Given the description of an element on the screen output the (x, y) to click on. 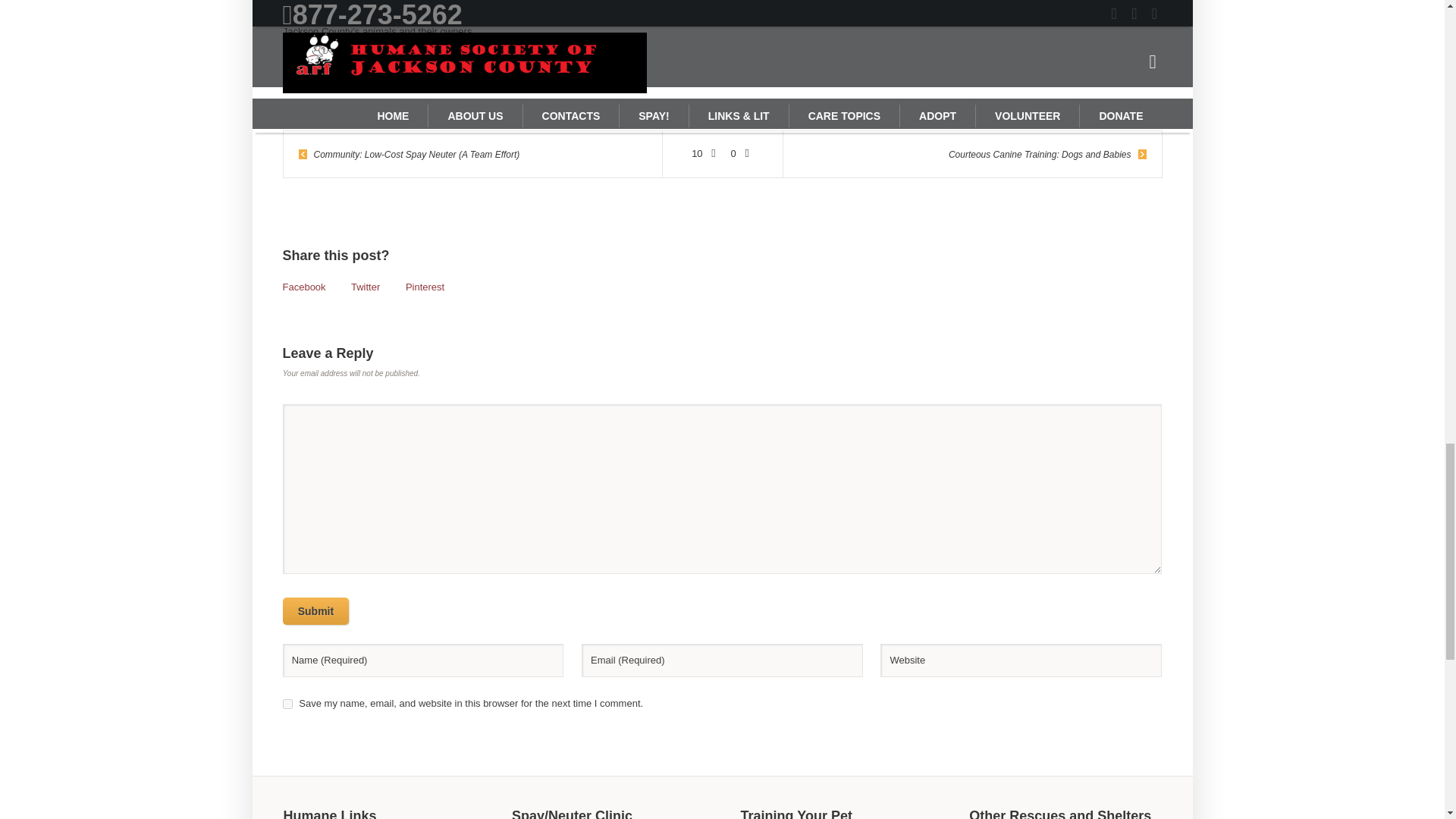
0 (741, 153)
Comment on Community: An Informal ARF History (741, 153)
Courteous Canine Training: Dogs and Babies (1048, 154)
Submit (315, 610)
yes (287, 704)
10 (705, 153)
Pinterest (425, 286)
Twitter (365, 286)
Facebook (303, 286)
